Given the description of an element on the screen output the (x, y) to click on. 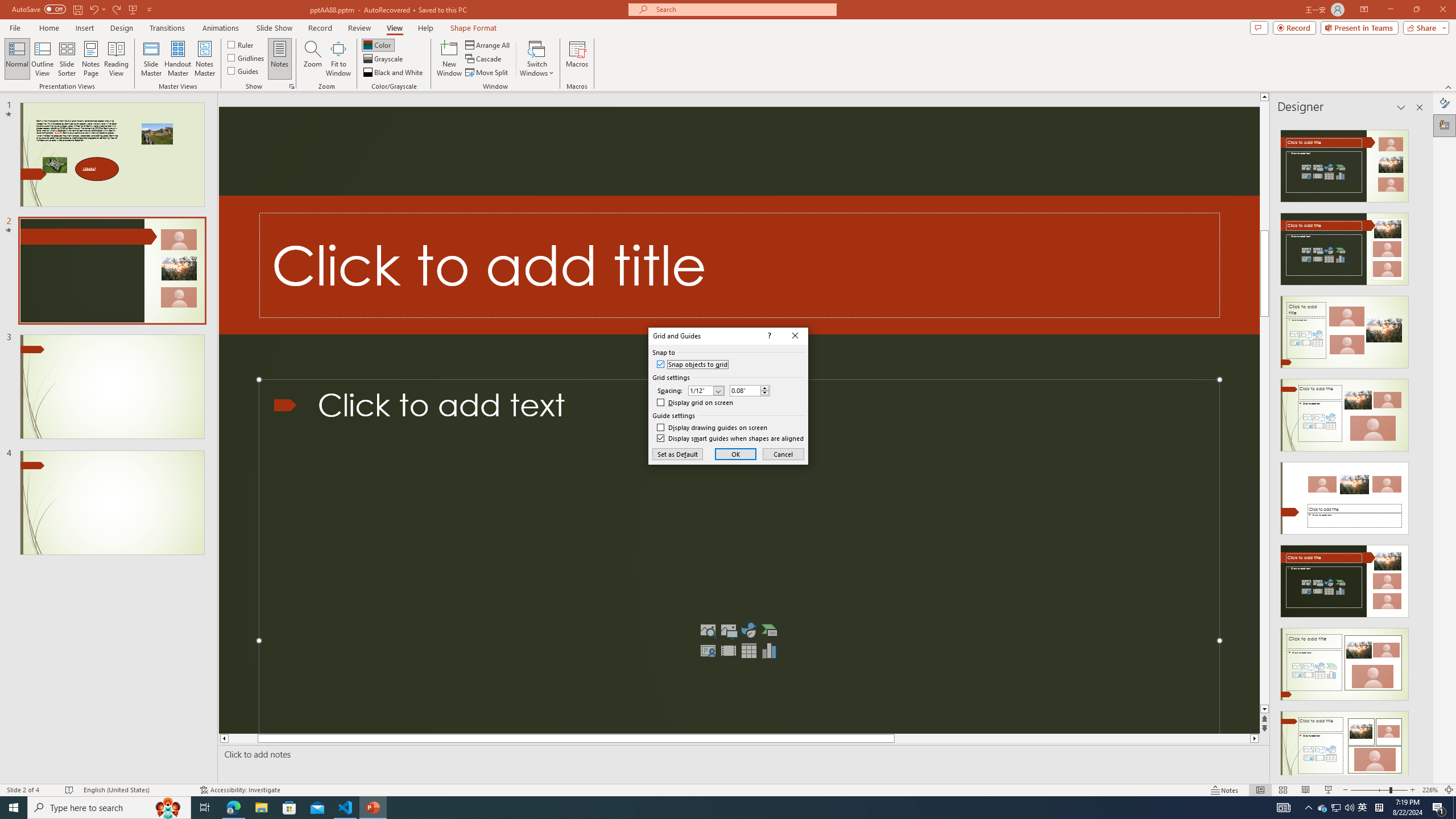
Ruler (241, 44)
Insert Cameo (707, 650)
Notes Master (204, 58)
Format Background (1444, 102)
